Given the description of an element on the screen output the (x, y) to click on. 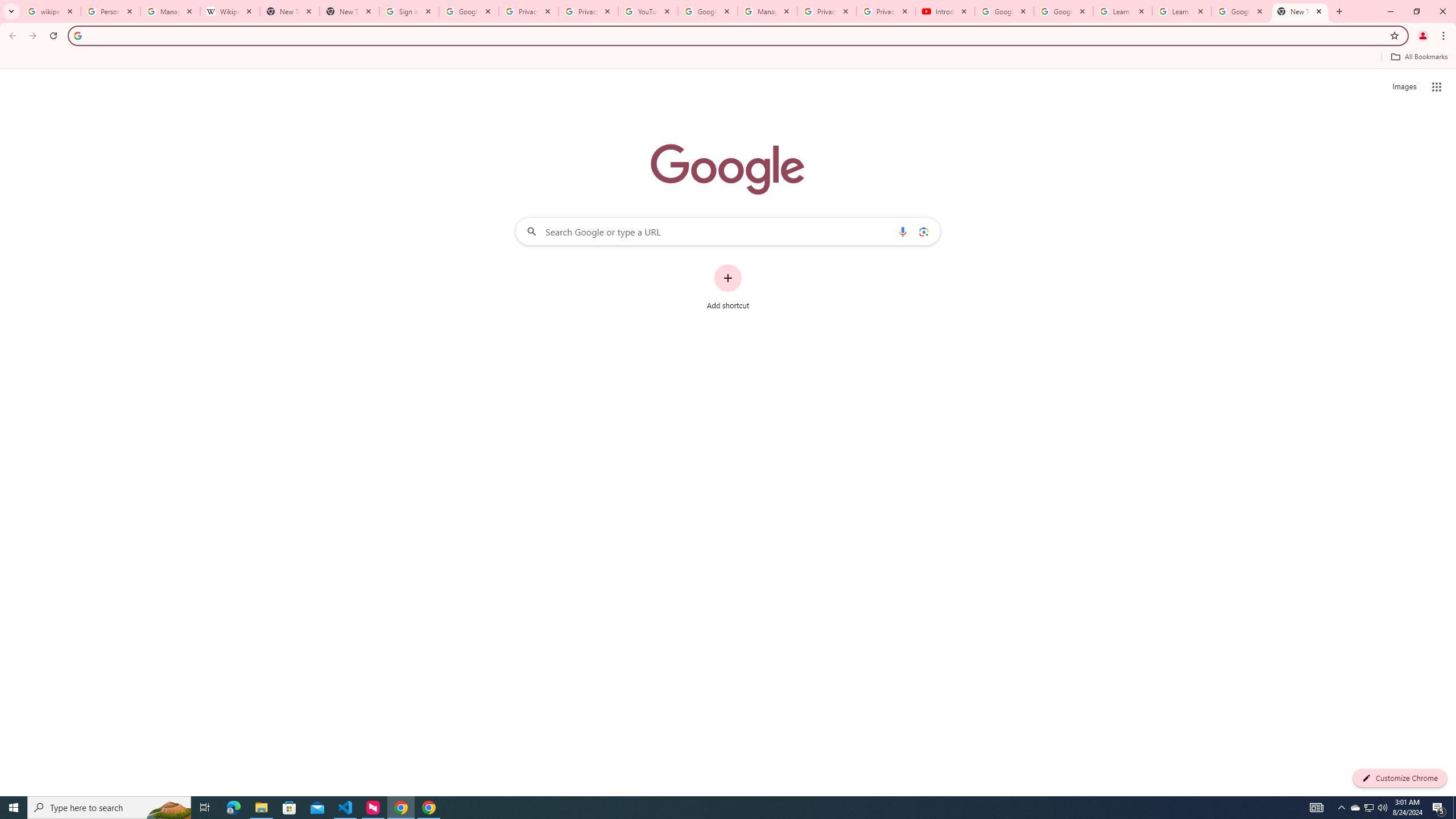
Personalization & Google Search results - Google Search Help (110, 11)
Bookmarks (728, 58)
Introduction | Google Privacy Policy - YouTube (944, 11)
New Tab (349, 11)
All Bookmarks (1418, 56)
Wikipedia:Edit requests - Wikipedia (229, 11)
Sign in - Google Accounts (409, 11)
